Given the description of an element on the screen output the (x, y) to click on. 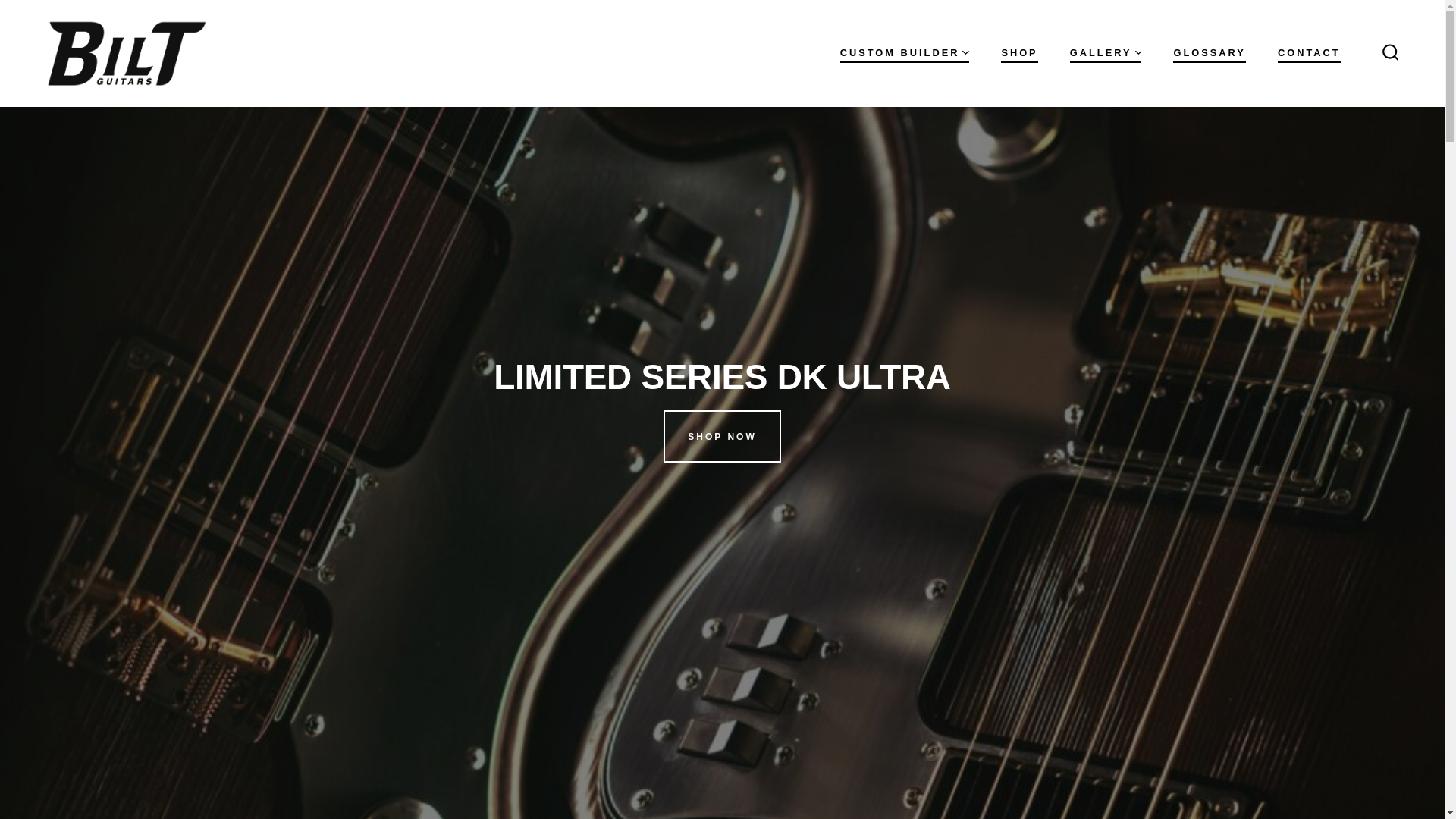
SHOP NOW (721, 436)
CONTACT (1309, 53)
SEARCH TOGGLE (1390, 53)
CUSTOM BUILDER (904, 53)
GLOSSARY (1208, 53)
SHOP (1018, 53)
GALLERY (1105, 53)
